Given the description of an element on the screen output the (x, y) to click on. 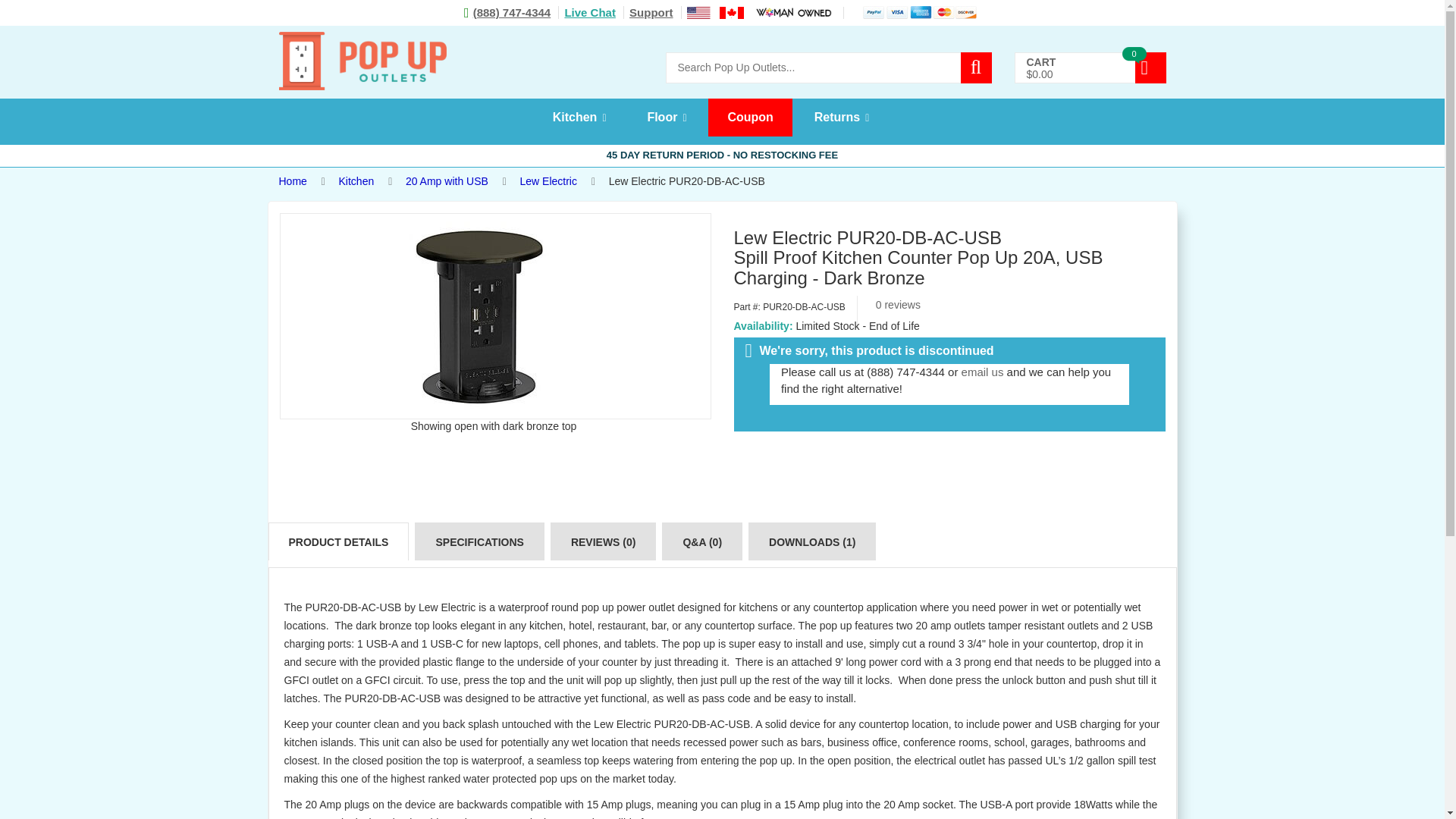
Showing open with dark bronze top  (477, 316)
Home (293, 181)
Kitchen (356, 181)
Lew Electric (547, 181)
Returns (841, 117)
Support (654, 11)
Home (293, 181)
0 reviews (898, 304)
Floor (665, 117)
Pop Up Outlets Logo (362, 60)
